Given the description of an element on the screen output the (x, y) to click on. 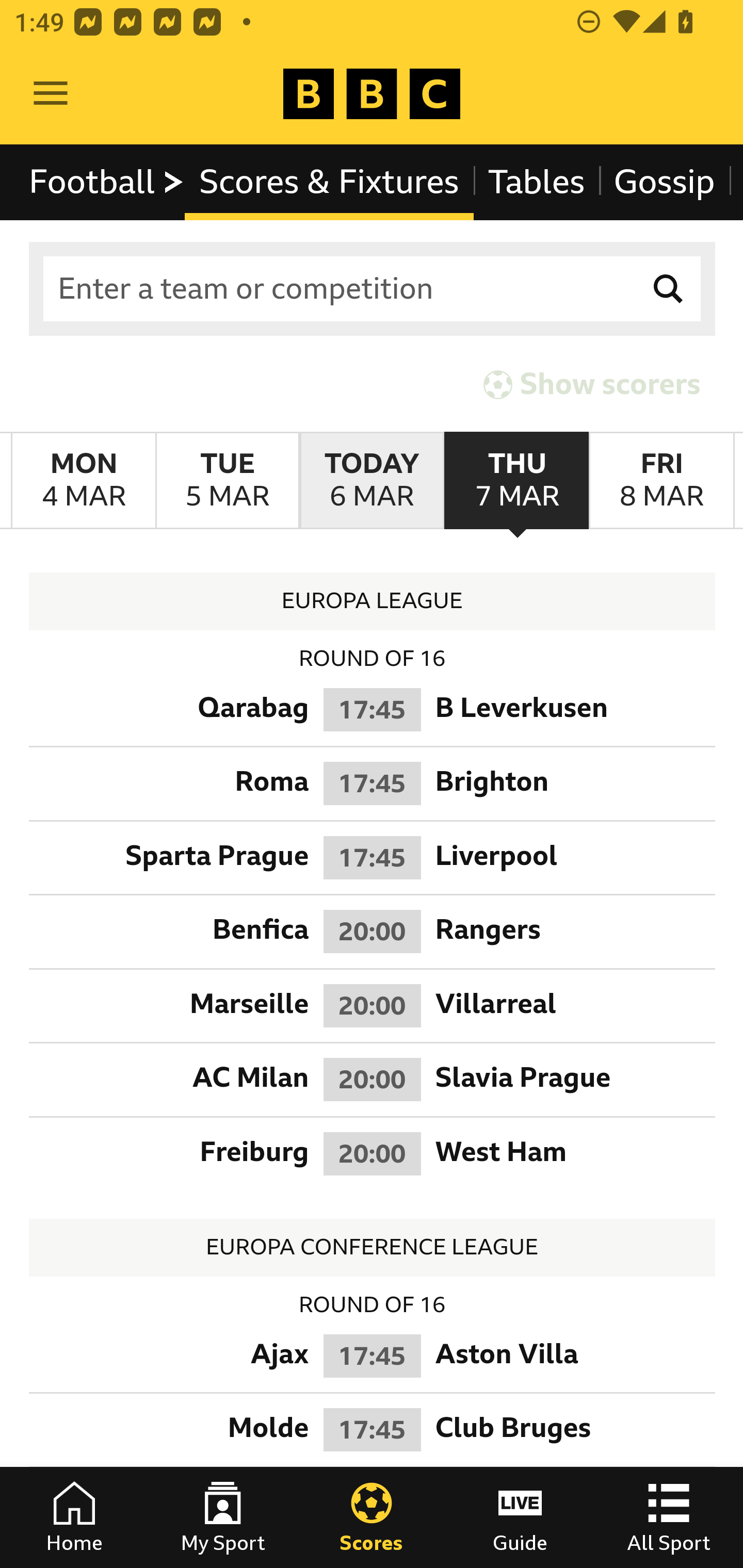
Open Menu (50, 93)
Football  (106, 181)
Scores & Fixtures (329, 181)
Tables (536, 181)
Gossip (664, 181)
Search (669, 289)
Show scorers (591, 383)
MondayMarch 4th Monday March 4th (83, 480)
TuesdayMarch 5th Tuesday March 5th (227, 480)
TodayMarch 6th Today March 6th (371, 480)
FridayMarch 8th Friday March 8th (661, 480)
Home (74, 1517)
My Sport (222, 1517)
Guide (519, 1517)
All Sport (668, 1517)
